Given the description of an element on the screen output the (x, y) to click on. 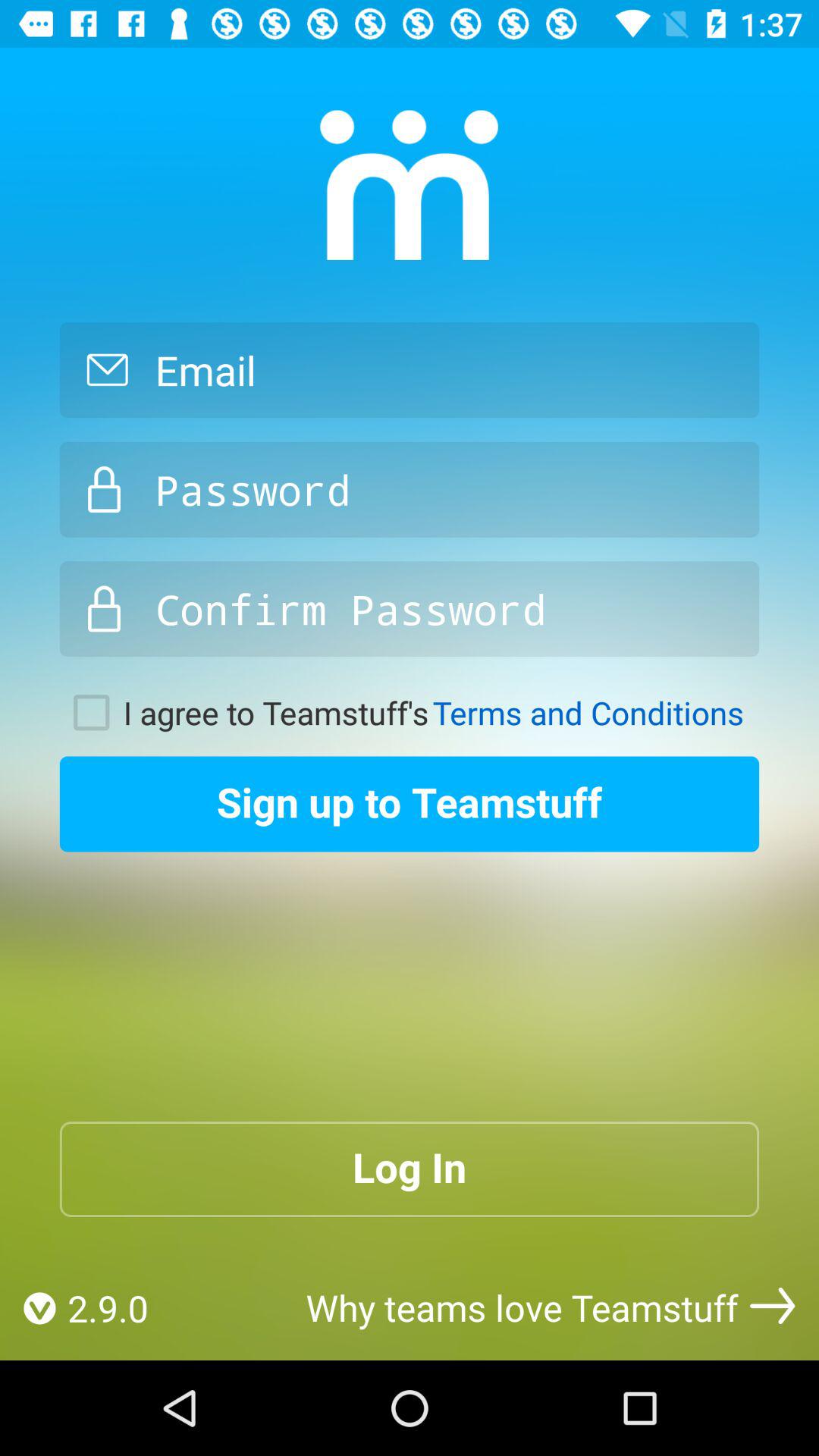
creat password (409, 608)
